Given the description of an element on the screen output the (x, y) to click on. 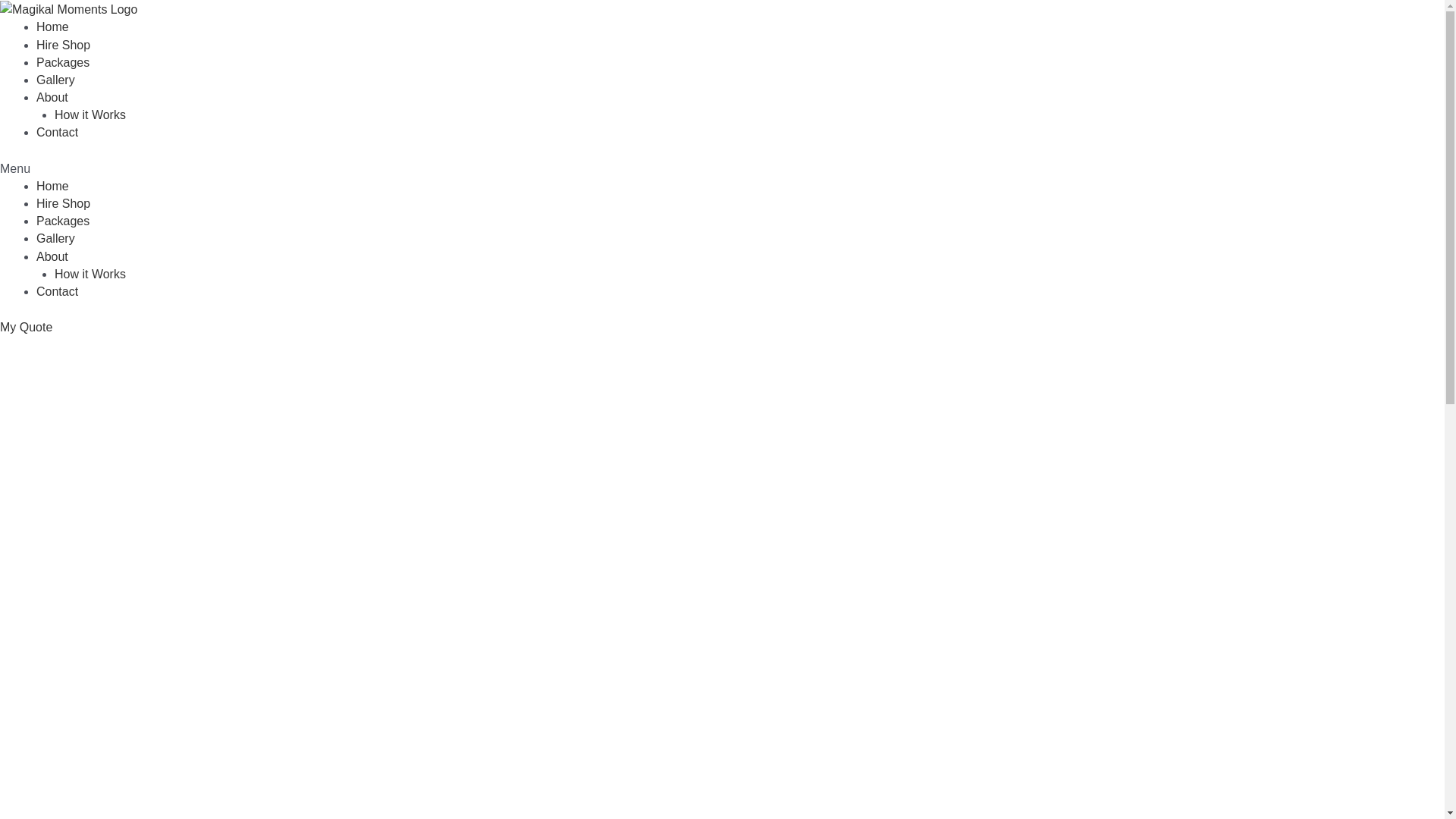
How it Works Element type: text (89, 114)
Gallery Element type: text (55, 238)
About Element type: text (52, 97)
How it Works Element type: text (89, 273)
Hire Shop Element type: text (63, 44)
About Element type: text (52, 256)
Hire Shop Element type: text (63, 203)
My Quote Element type: text (26, 326)
Packages Element type: text (62, 220)
Home Element type: text (52, 26)
Contact Element type: text (57, 131)
Gallery Element type: text (55, 79)
Packages Element type: text (62, 62)
Contact Element type: text (57, 291)
Home Element type: text (52, 185)
